Given the description of an element on the screen output the (x, y) to click on. 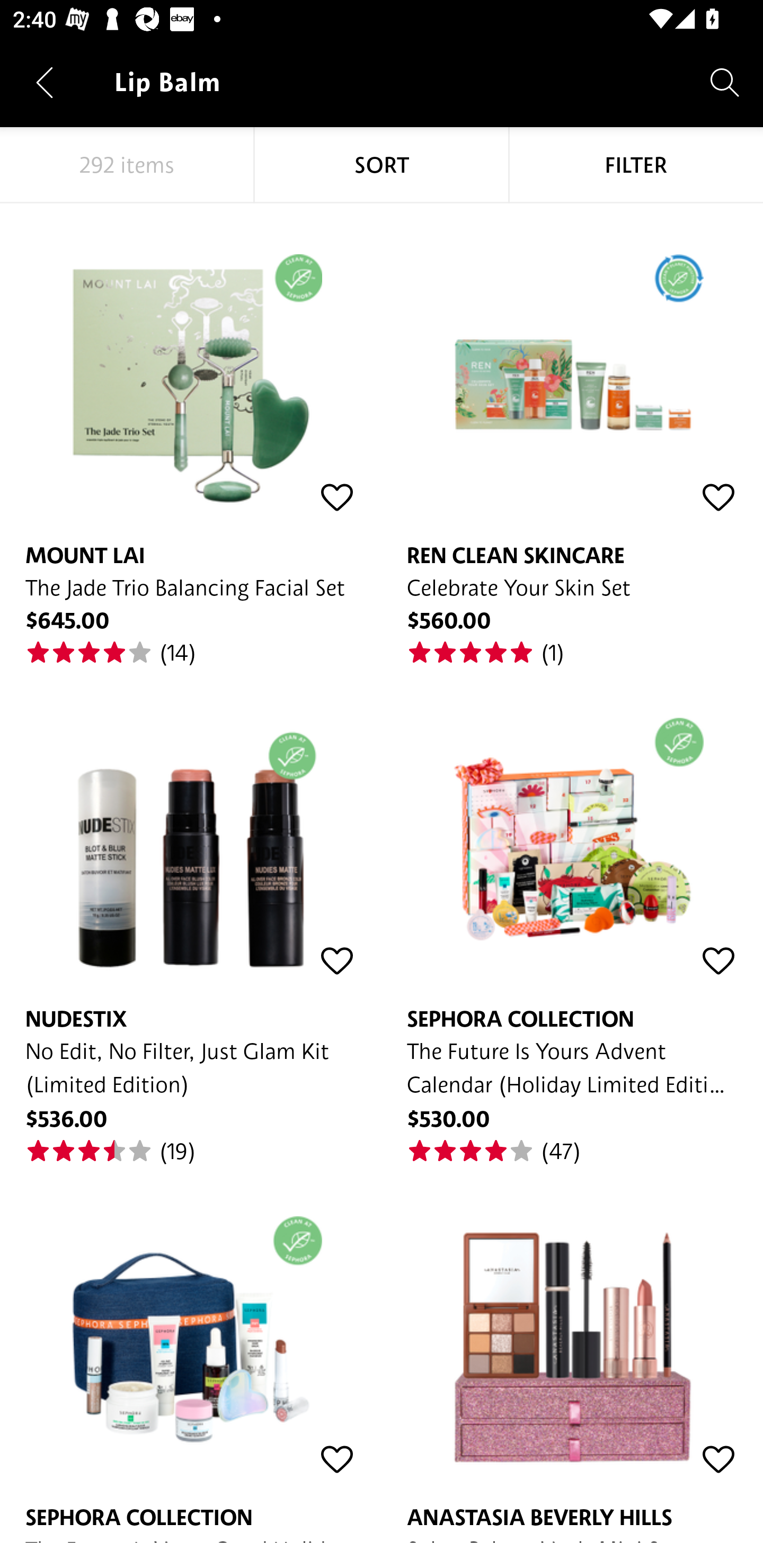
Navigate up (44, 82)
Search (724, 81)
SORT (381, 165)
FILTER (636, 165)
